Given the description of an element on the screen output the (x, y) to click on. 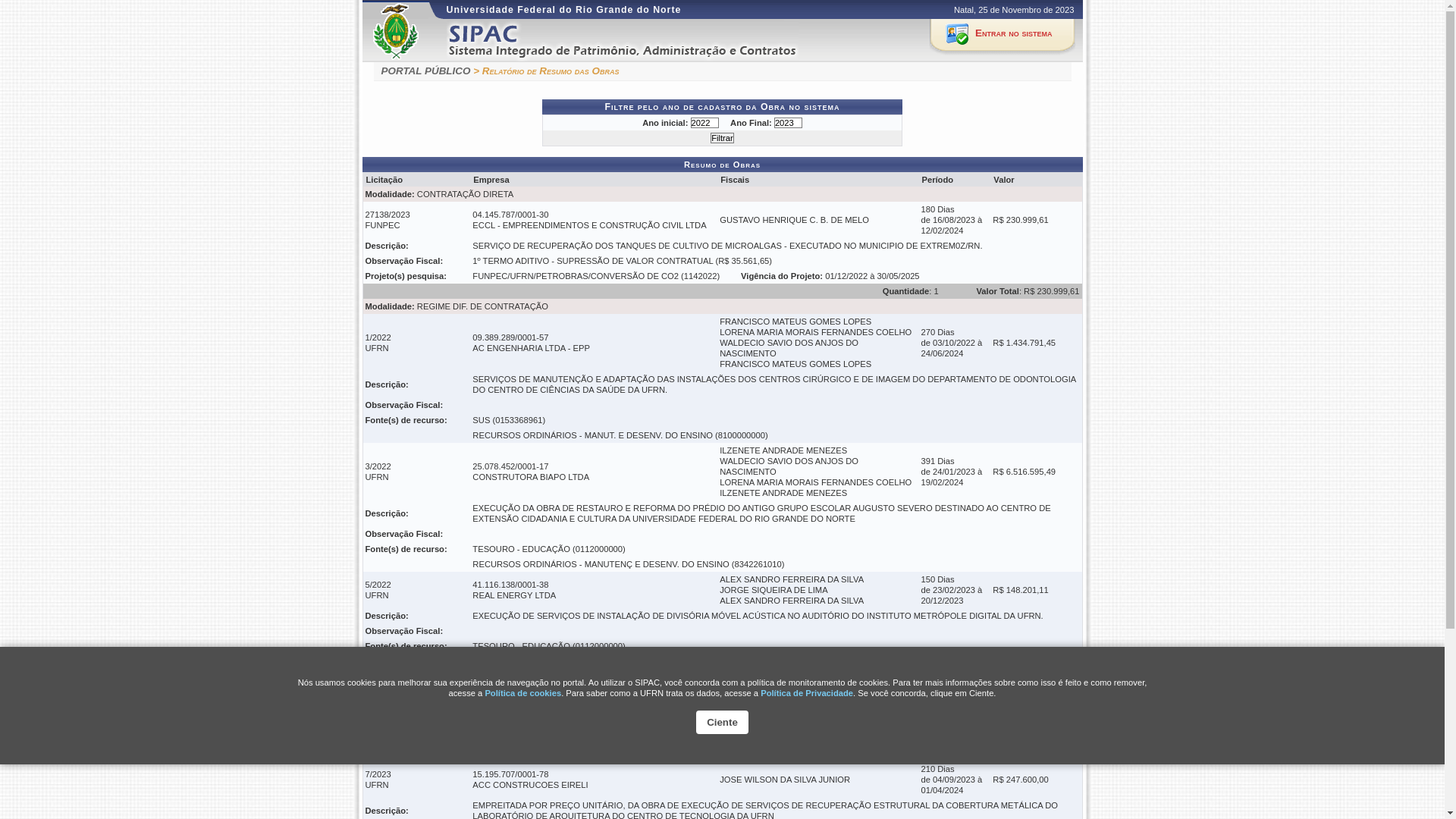
Ciente Element type: text (722, 722)
Entrar no sistema Element type: text (1001, 35)
Filtrar Element type: text (722, 137)
